Given the description of an element on the screen output the (x, y) to click on. 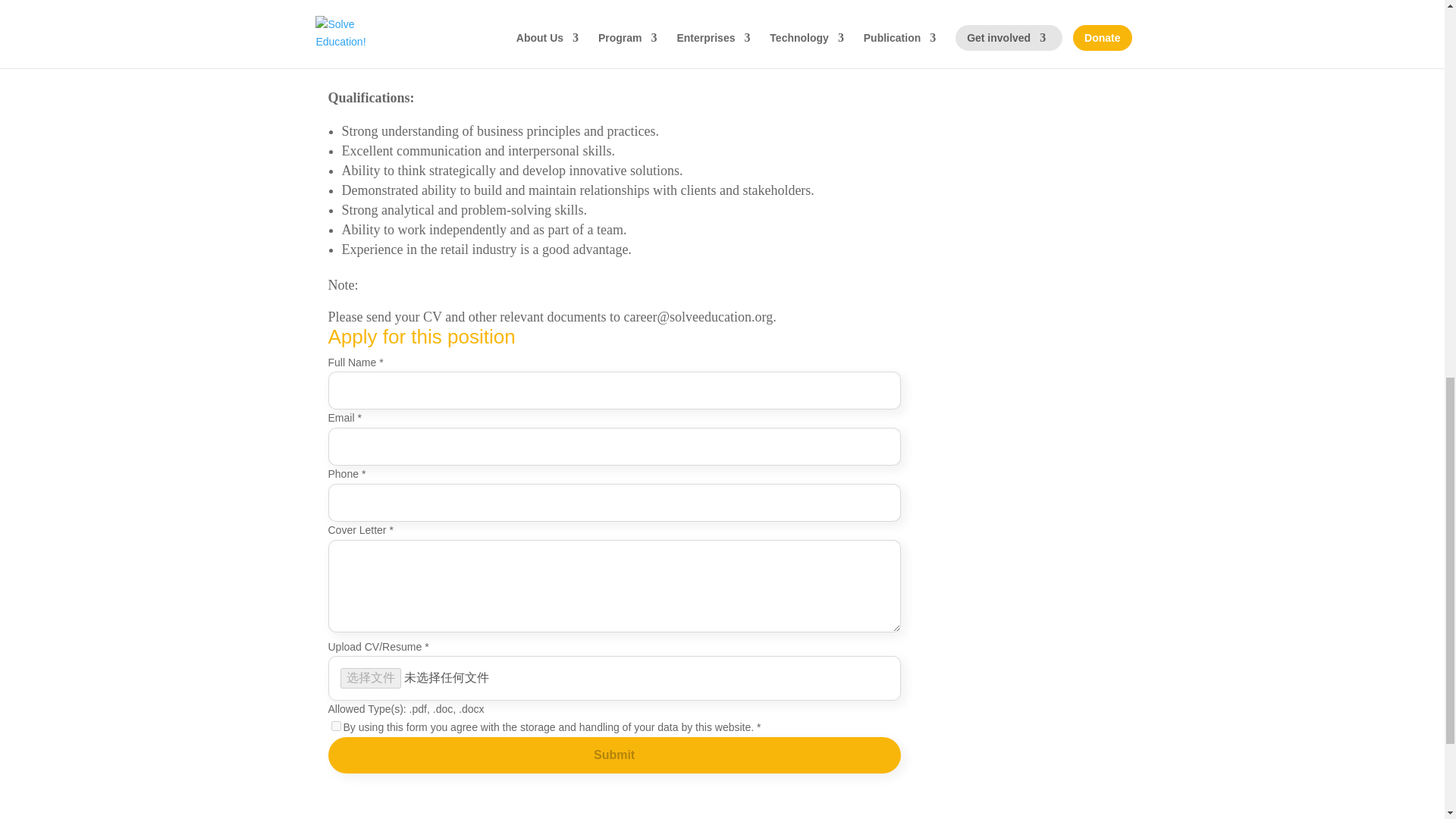
yes (335, 726)
Submit (613, 755)
Submit (613, 755)
